Given the description of an element on the screen output the (x, y) to click on. 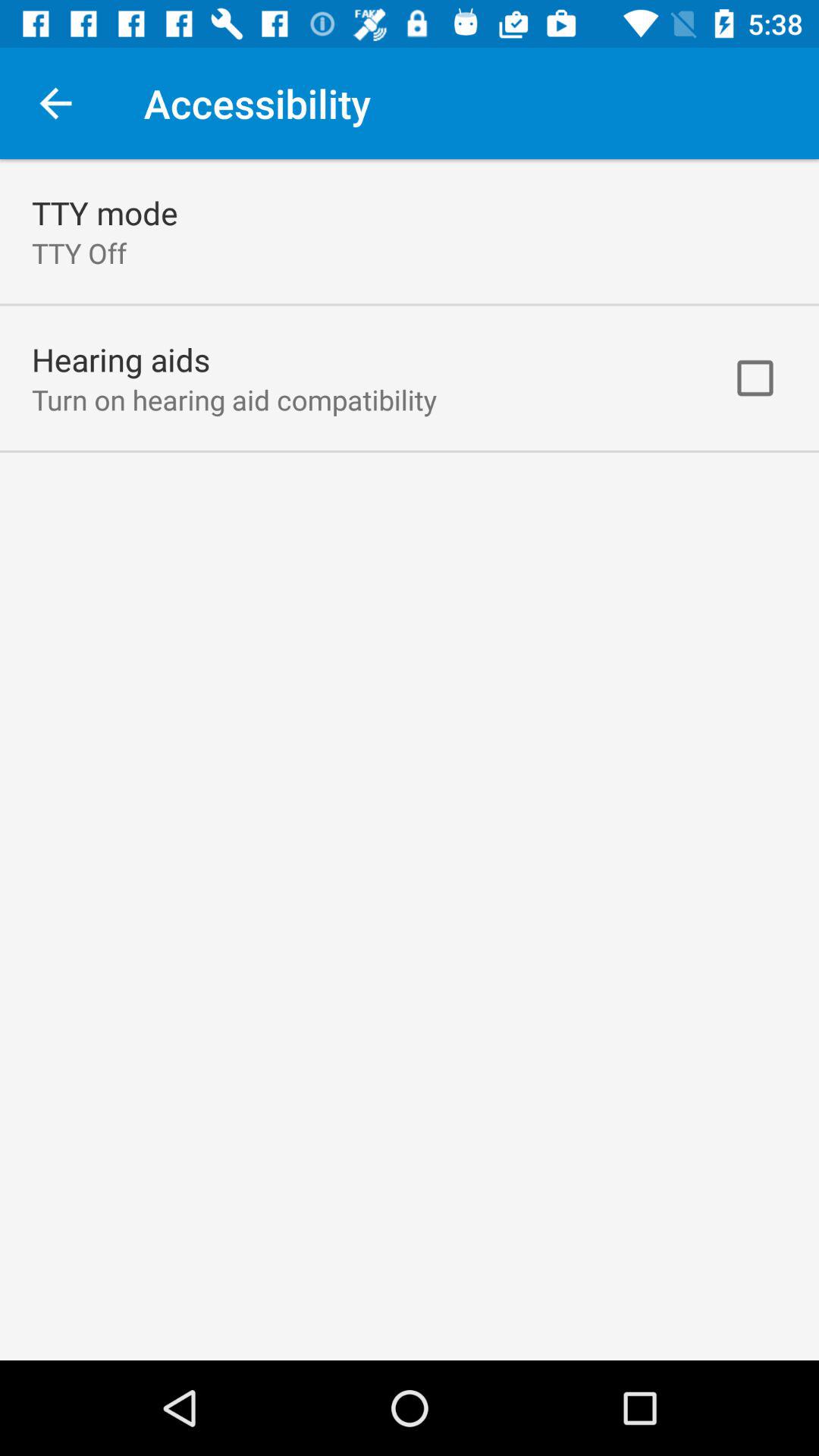
jump to the tty mode (104, 212)
